Given the description of an element on the screen output the (x, y) to click on. 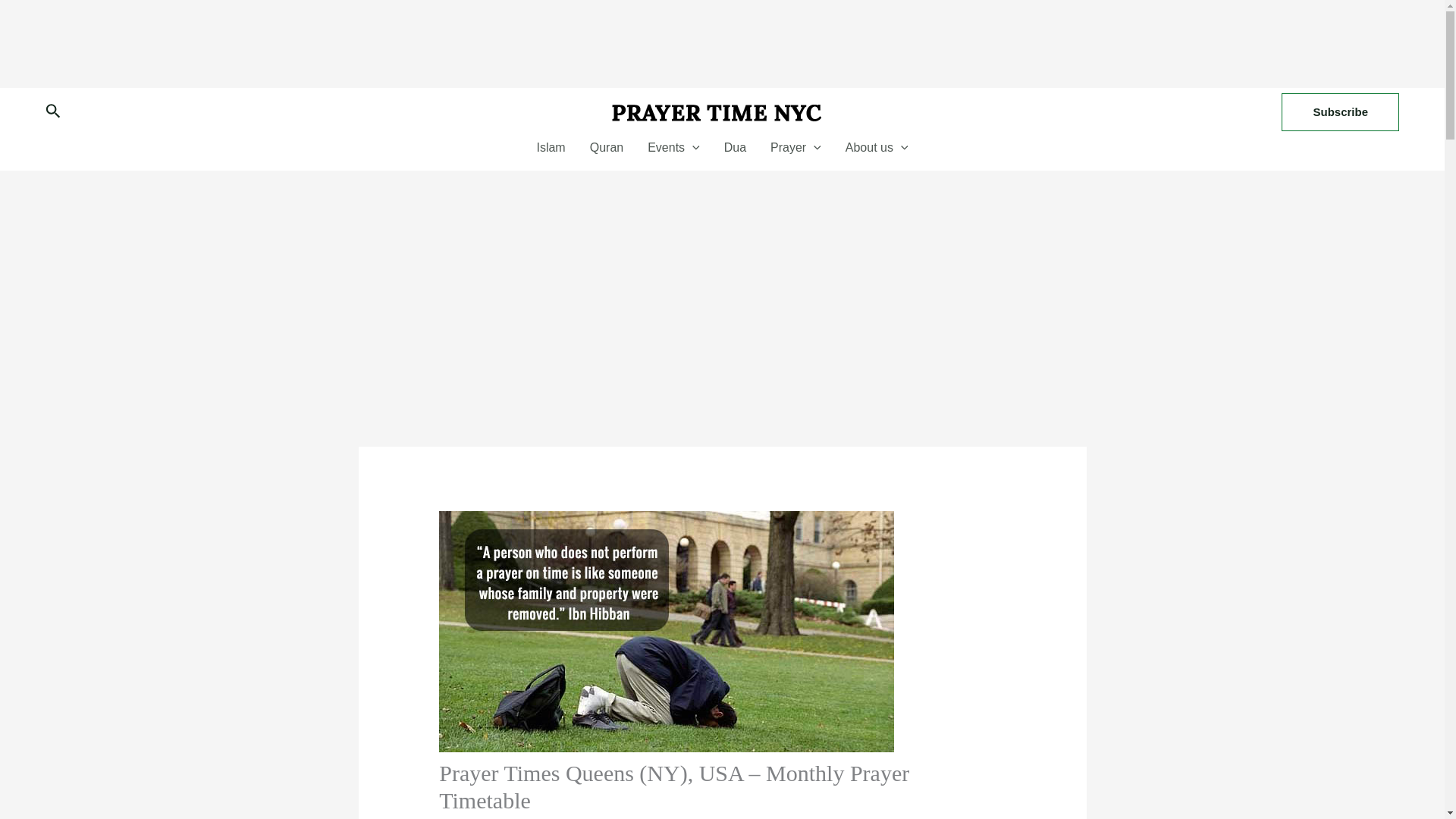
Events (672, 147)
Search (53, 112)
Subscribe (1340, 112)
Prayer (795, 147)
Dua (734, 147)
About us (876, 147)
Islam (550, 147)
Quran (606, 147)
